Given the description of an element on the screen output the (x, y) to click on. 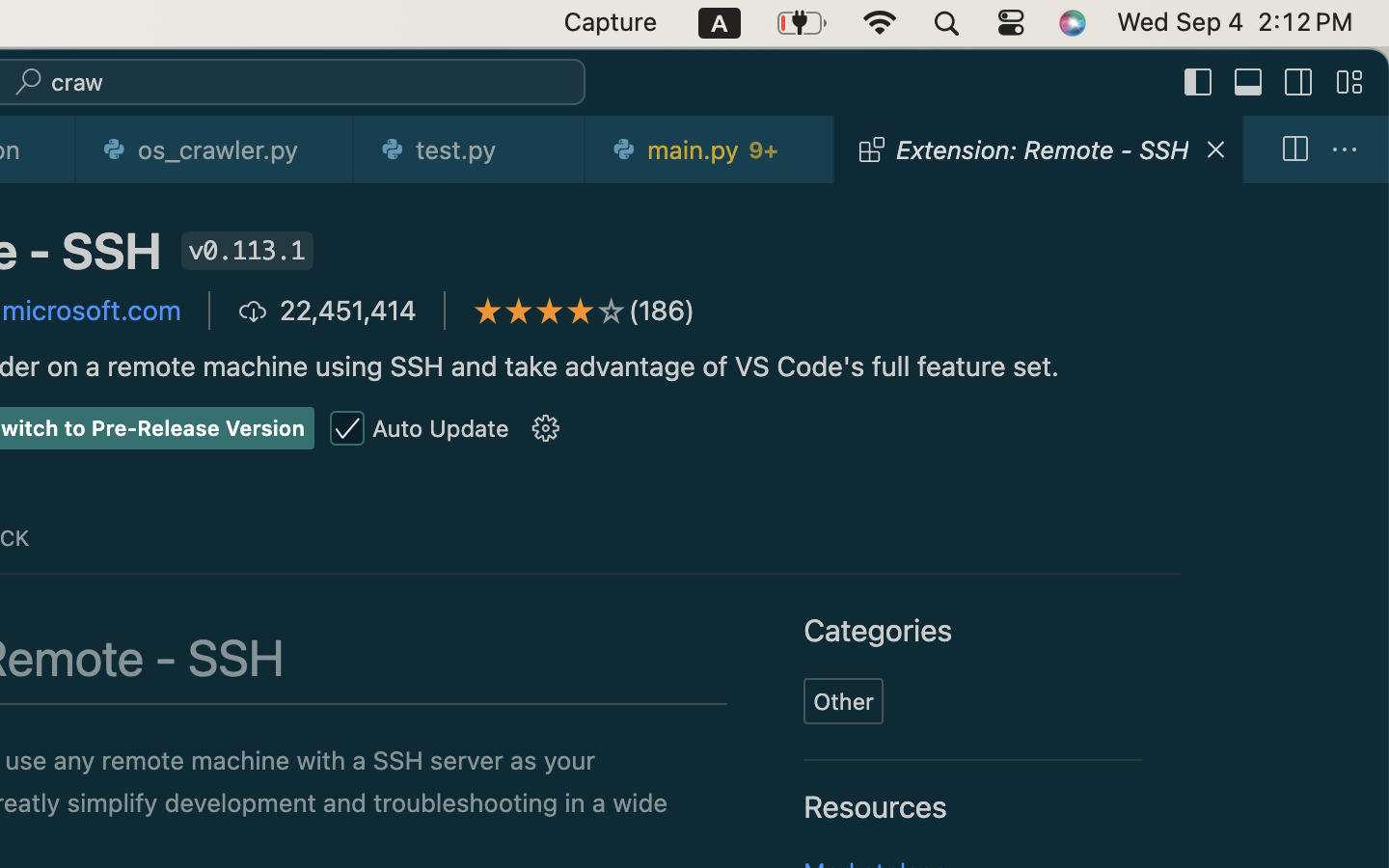
 Element type: AXCheckBox (1198, 82)
v0.113.1 Element type: AXStaticText (247, 250)
Auto Update Element type: AXStaticText (440, 428)
 Element type: AXStaticText (487, 310)
Categories Element type: AXStaticText (878, 631)
